Given the description of an element on the screen output the (x, y) to click on. 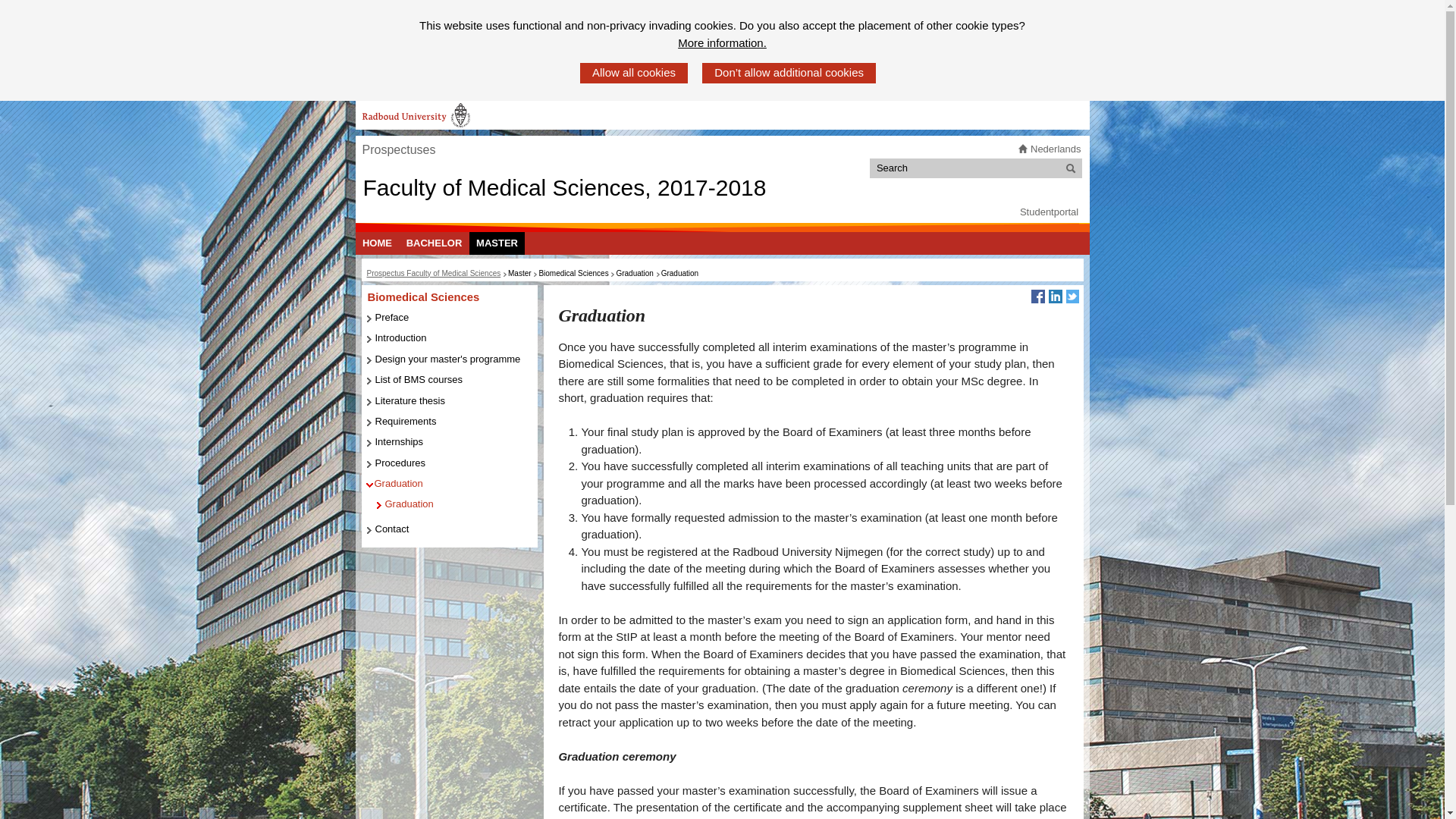
Search (1070, 168)
Nederlands (1055, 149)
MASTER (497, 243)
Prospectuses (398, 149)
Studentportal (1049, 211)
Faculty of Medical Sciences, 2017-2018 (563, 187)
Allow all cookies (633, 73)
HOME (376, 243)
Allow all cookies (633, 73)
Radboud University (415, 115)
